Given the description of an element on the screen output the (x, y) to click on. 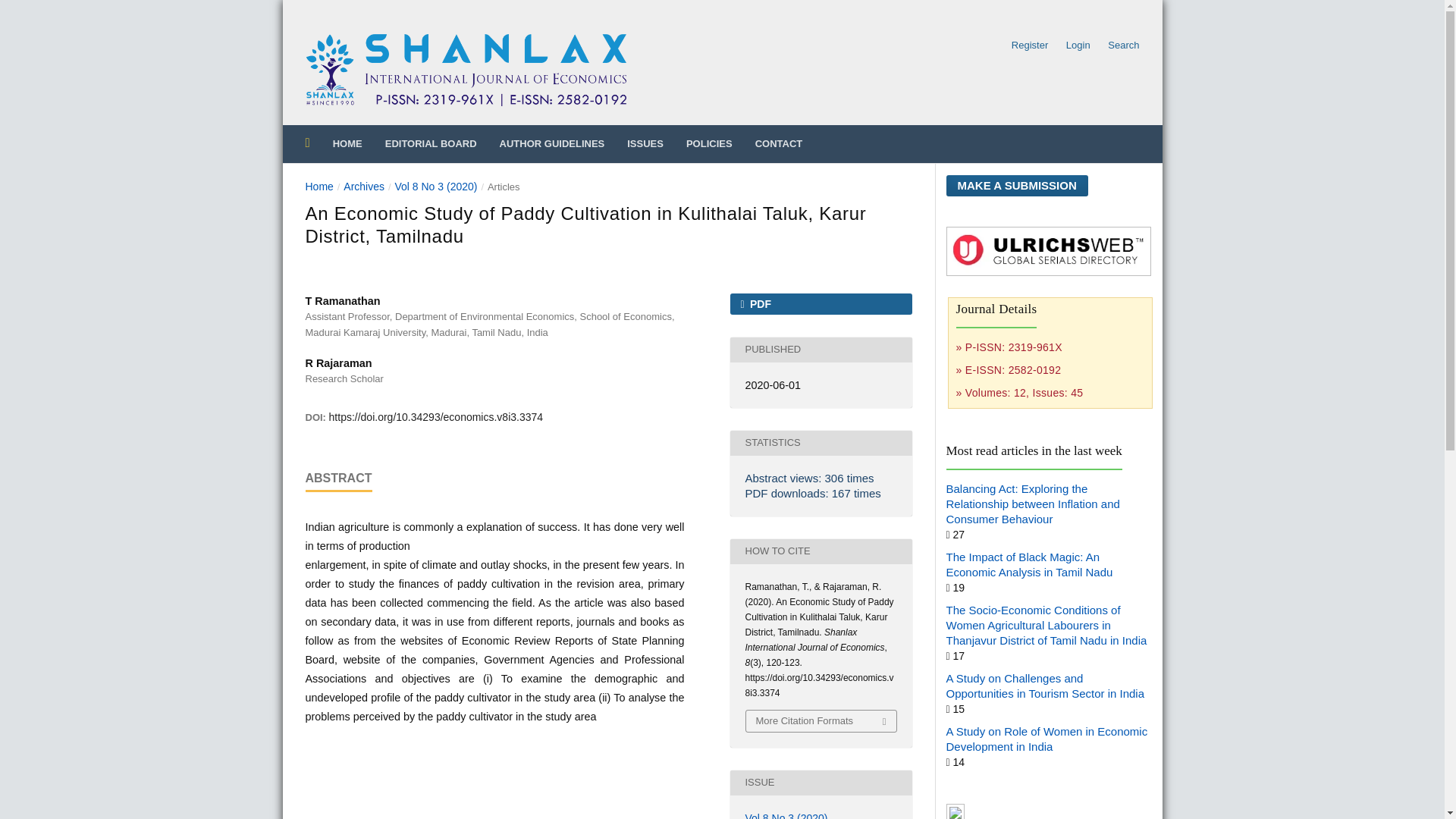
Home (318, 186)
ISSUES (645, 143)
PDF (820, 303)
POLICIES (708, 143)
HOME (347, 143)
EDITORIAL BOARD (431, 143)
Archives (363, 186)
More Citation Formats (820, 721)
AUTHOR GUIDELINES (552, 143)
Login (1077, 45)
CONTACT (779, 143)
Search (1119, 45)
Register (1029, 45)
